Given the description of an element on the screen output the (x, y) to click on. 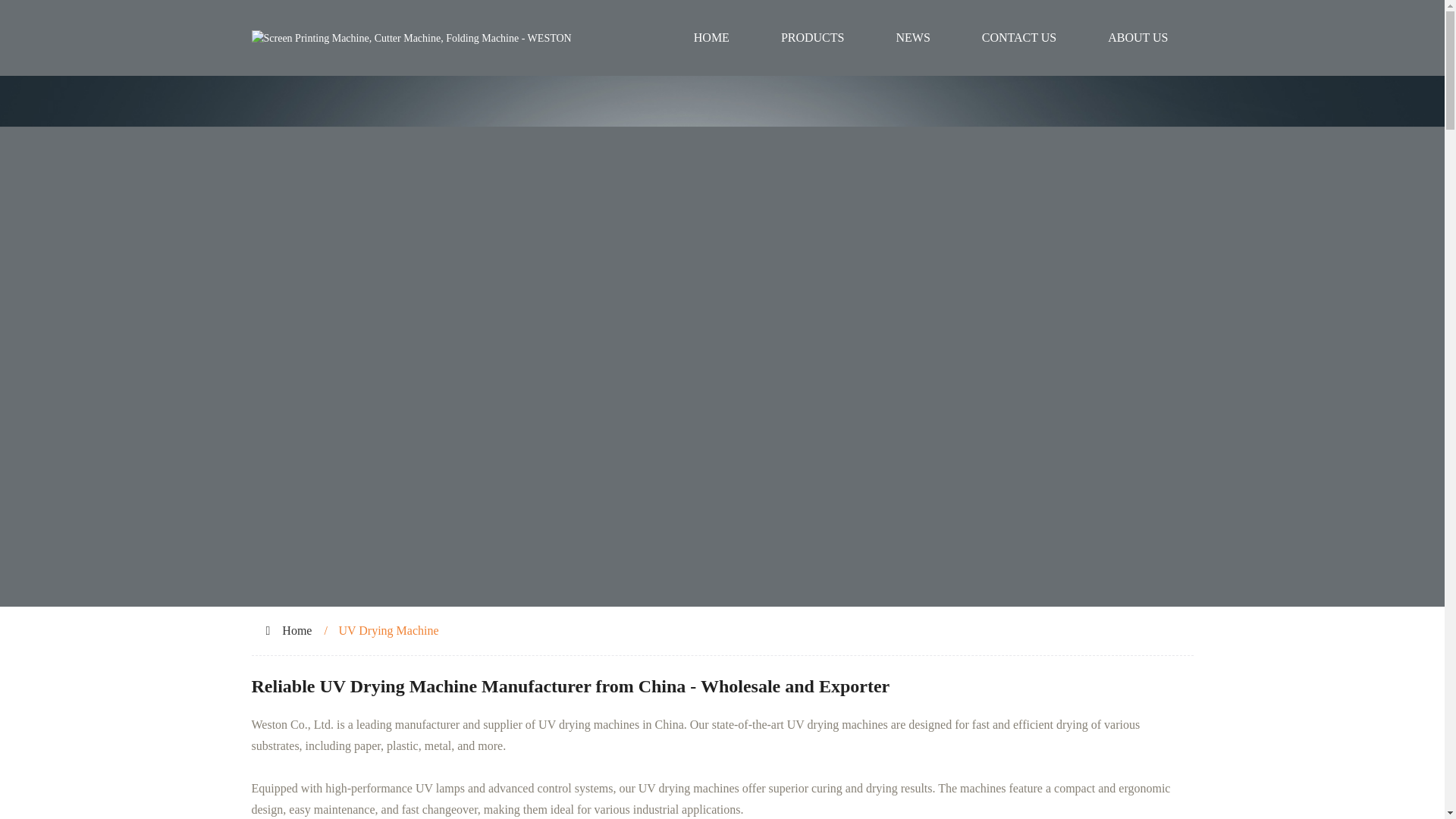
PRODUCTS (812, 38)
Home (296, 630)
CONTACT US (1018, 38)
